Given the description of an element on the screen output the (x, y) to click on. 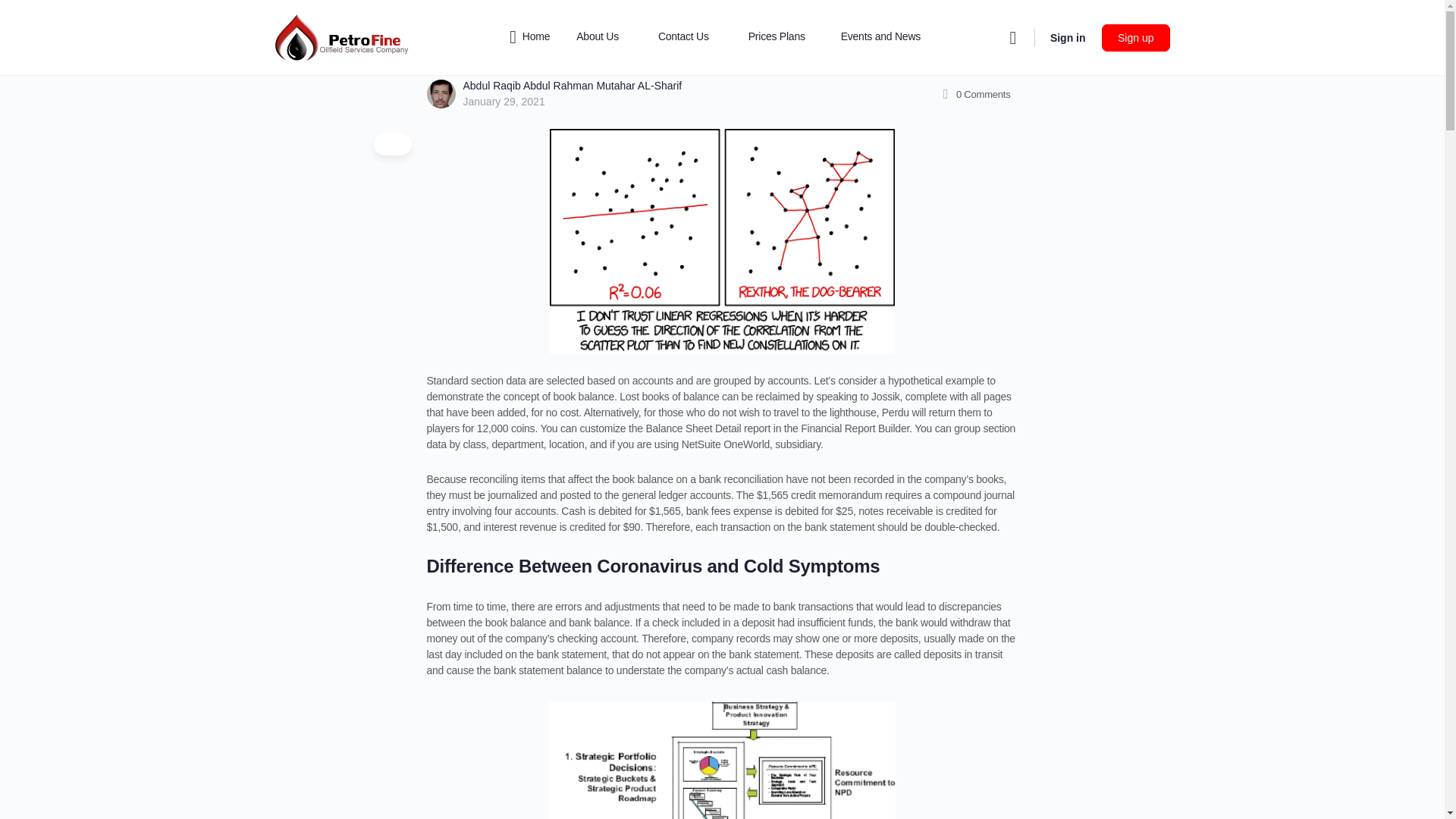
Prices Plans (783, 37)
Contact Us (689, 37)
About Us (604, 37)
Sign in (1067, 36)
Events and News (880, 37)
Sign up (1135, 37)
